Given the description of an element on the screen output the (x, y) to click on. 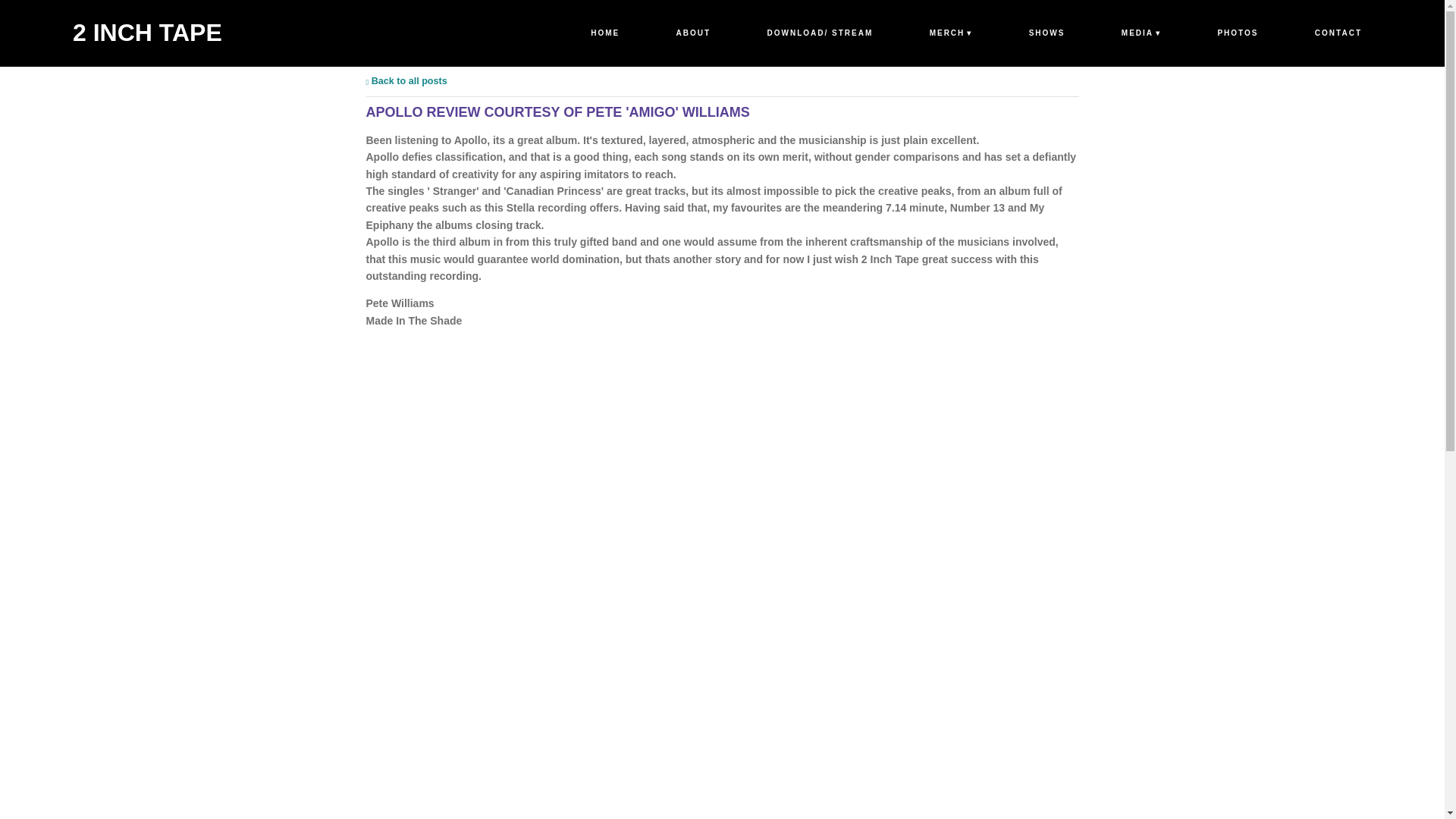
HOME (604, 33)
MERCH (951, 33)
MEDIA (1141, 33)
PHOTOS (1237, 33)
CONTACT (1337, 33)
Back to all posts (405, 81)
ABOUT (693, 33)
2 INCH TAPE (147, 32)
SHOWS (1047, 33)
